Given the description of an element on the screen output the (x, y) to click on. 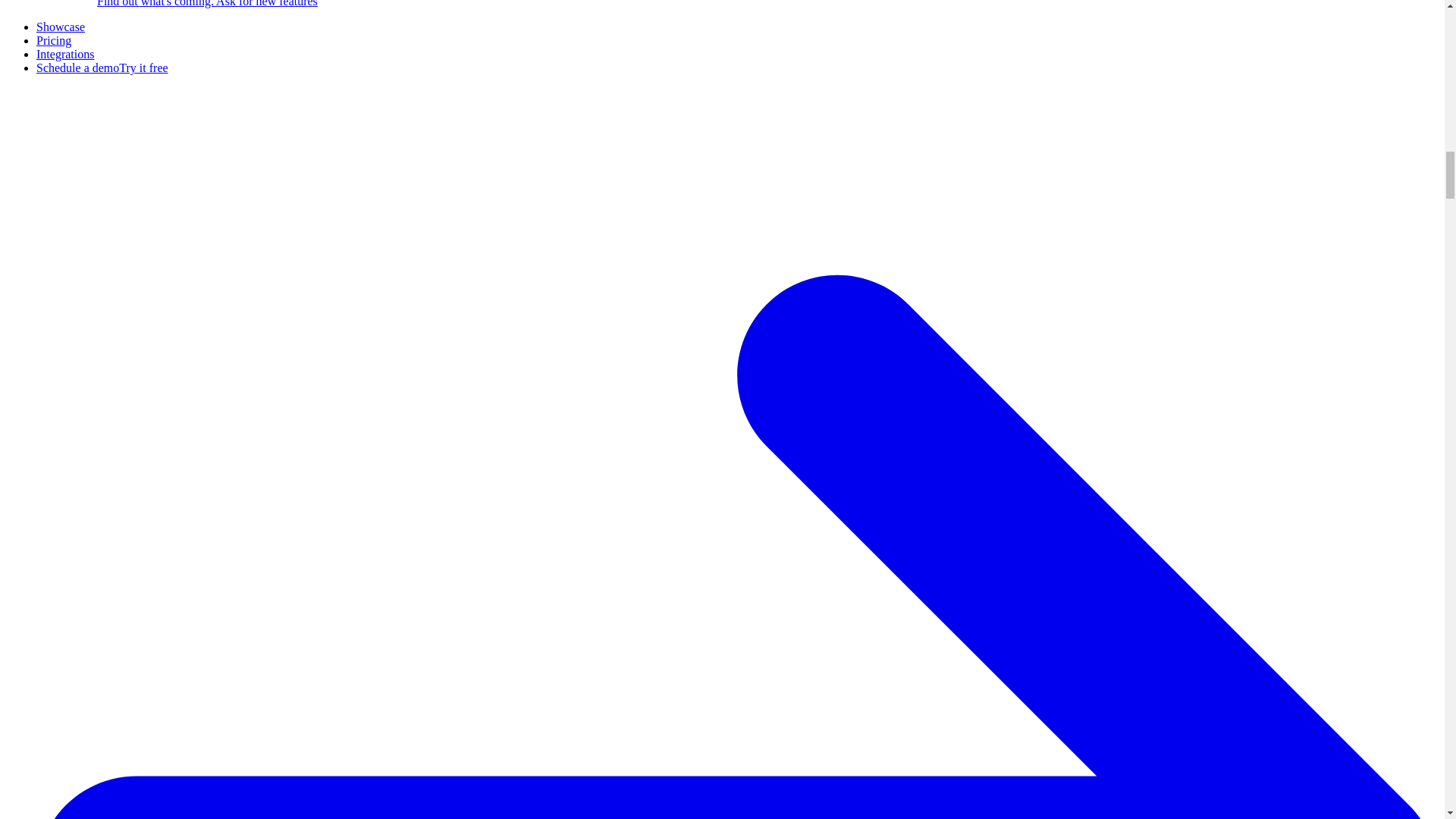
Showcase (60, 26)
Pricing (53, 40)
Schedule a demo (77, 67)
Integrations (65, 53)
